Given the description of an element on the screen output the (x, y) to click on. 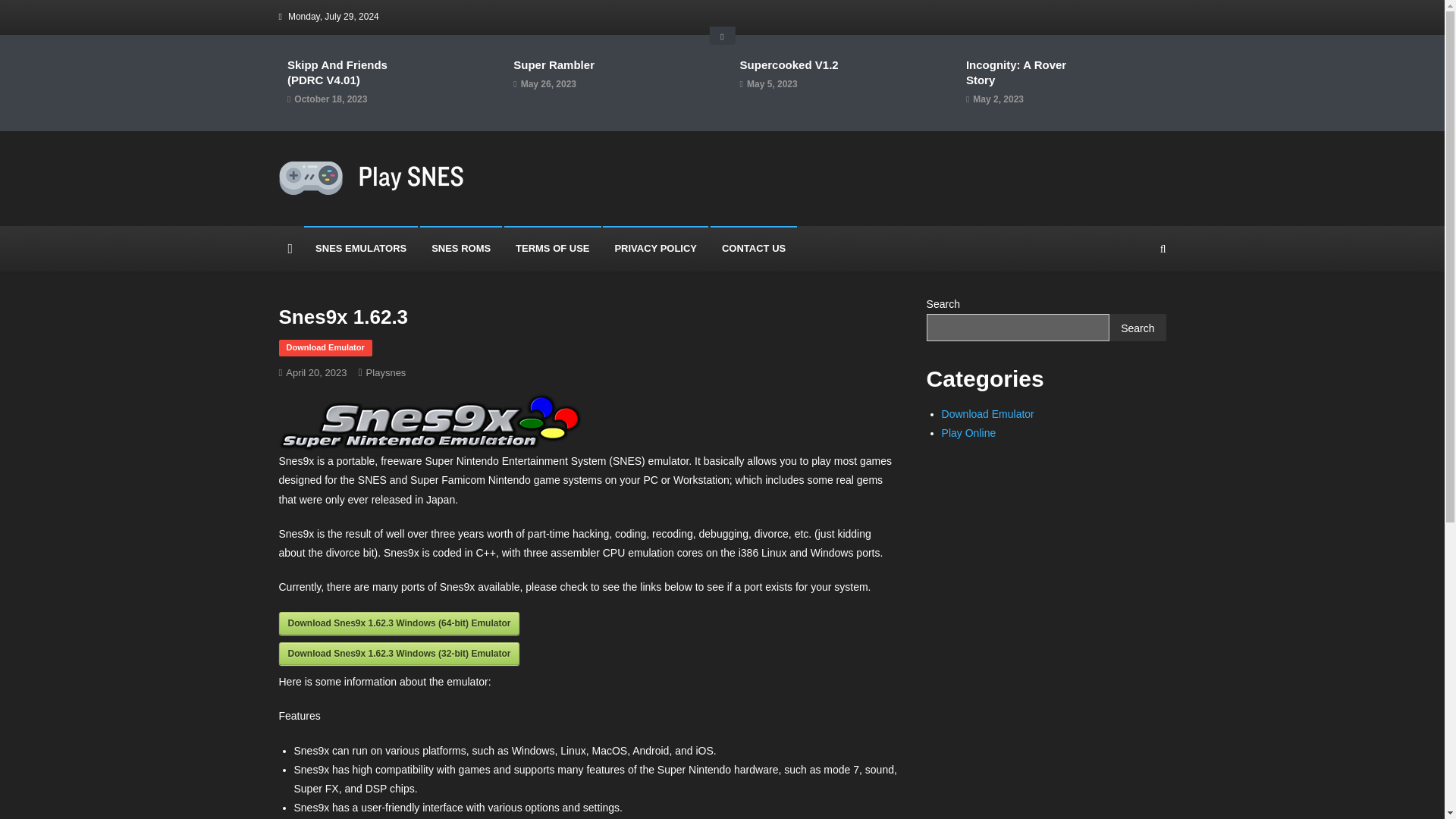
PRIVACY POLICY (654, 248)
PlaySNES.com (365, 210)
TERMS OF USE (552, 248)
Play Online (968, 432)
Incognity: A Rover Story (1022, 72)
Download Emulator (987, 413)
April 20, 2023 (315, 372)
CONTACT US (753, 248)
SNES ROMS (461, 248)
Search (1133, 311)
Feature Posts (722, 35)
Download Emulator (325, 347)
May 26, 2023 (548, 84)
Search (1137, 327)
May 2, 2023 (997, 99)
